Given the description of an element on the screen output the (x, y) to click on. 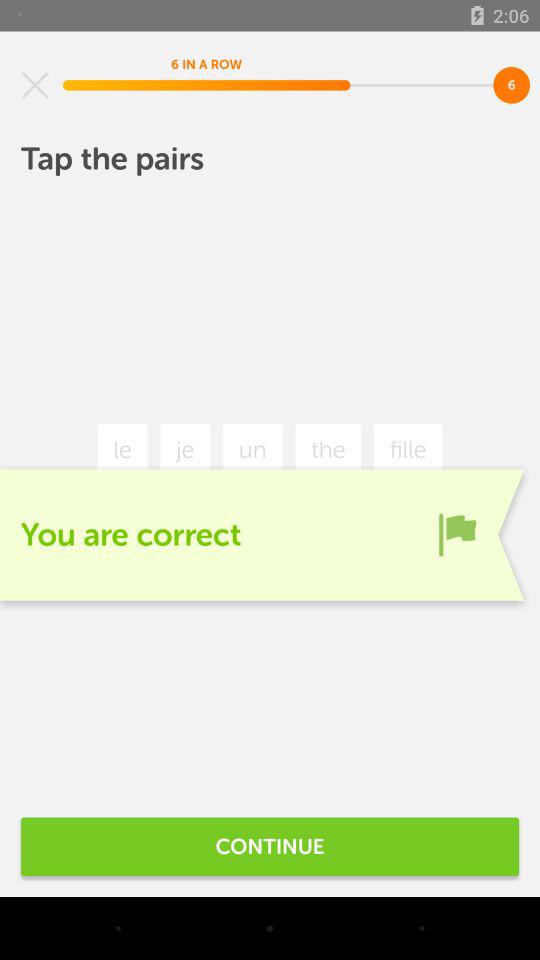
swipe to the continue (270, 846)
